Given the description of an element on the screen output the (x, y) to click on. 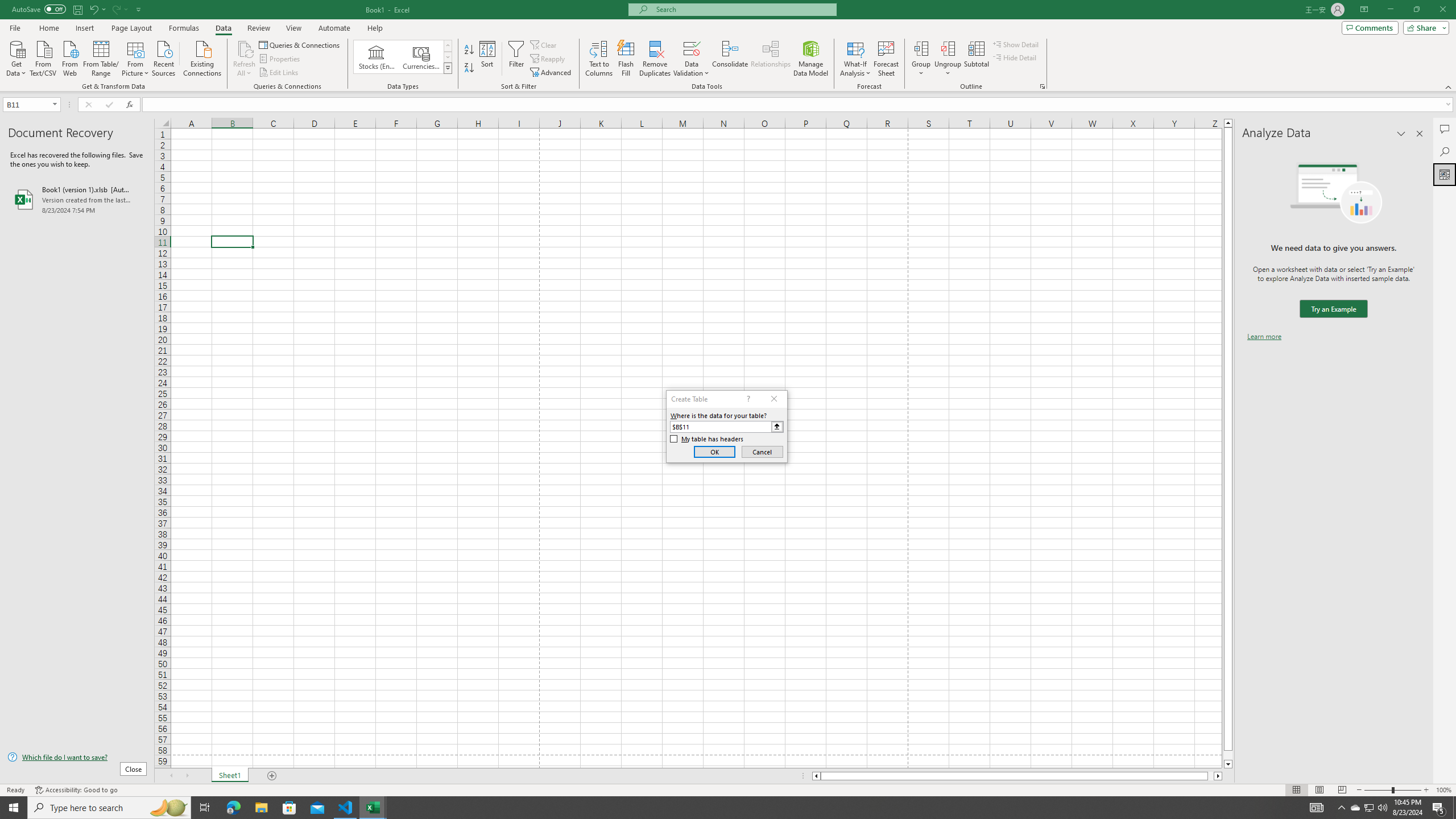
Search (1444, 151)
